Given the description of an element on the screen output the (x, y) to click on. 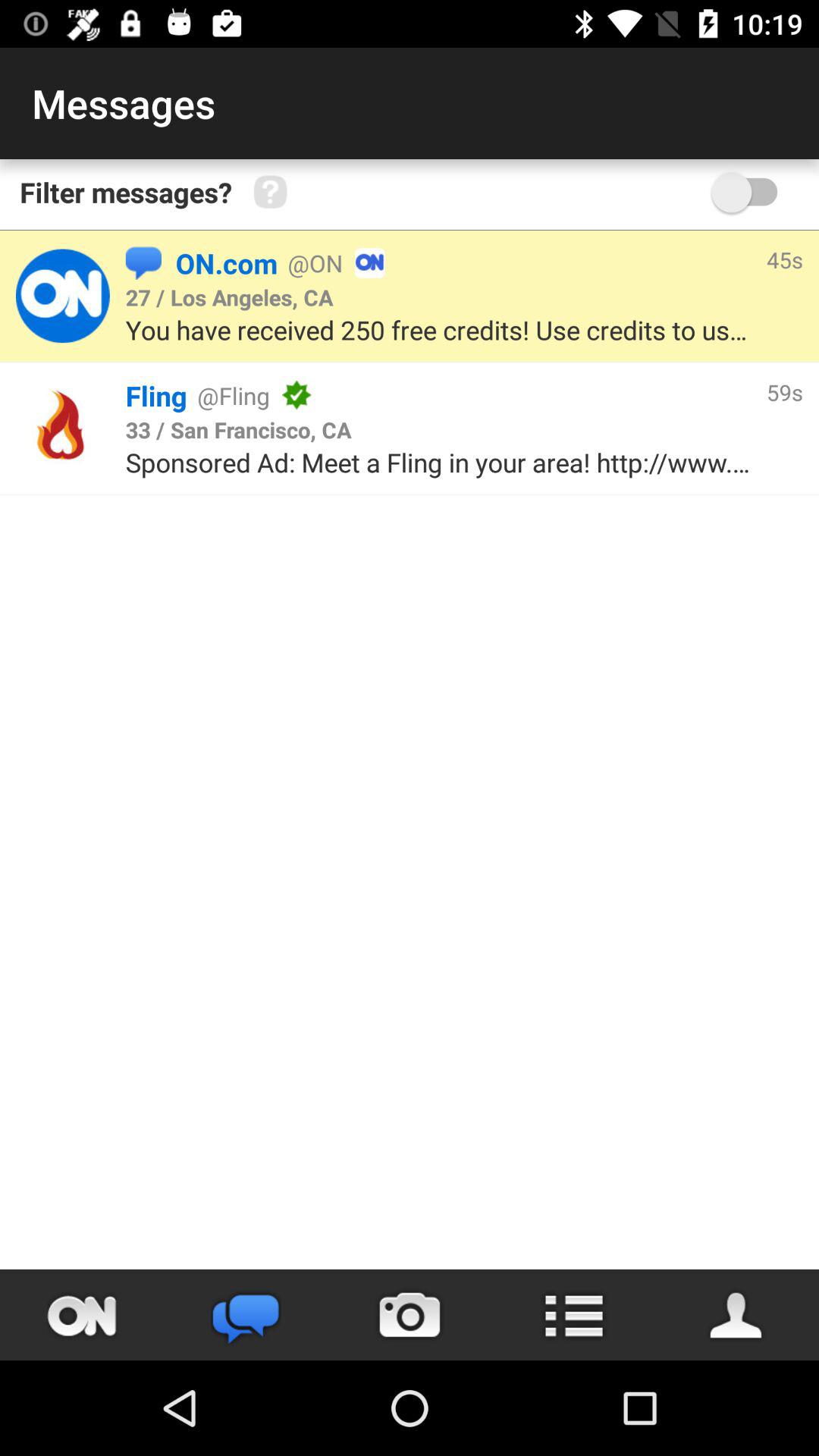
press the item next to the on.com (143, 262)
